Given the description of an element on the screen output the (x, y) to click on. 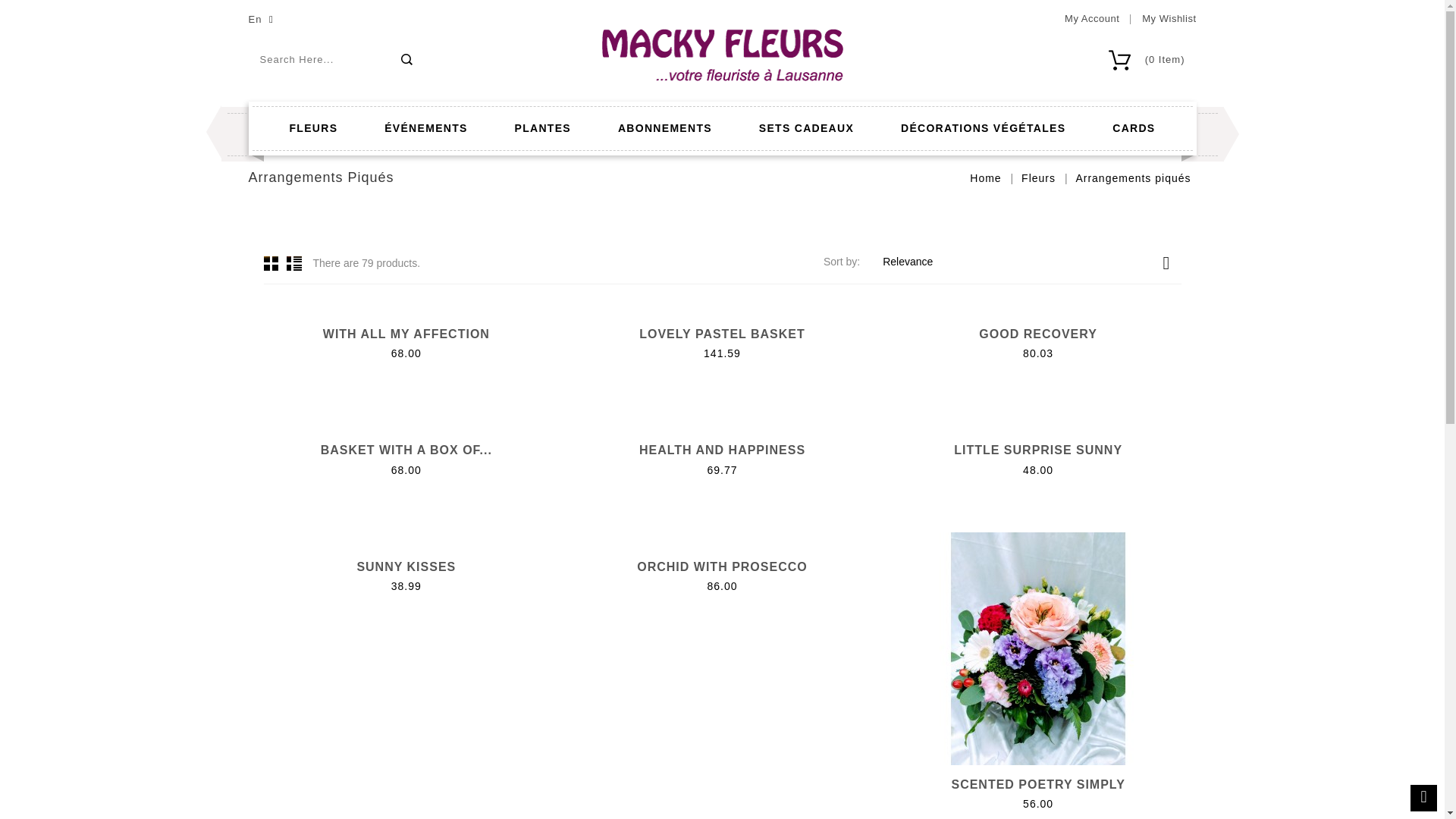
Basket with a box of milk chocolate (406, 449)
My Wishlist (1168, 18)
My Wishlist (1168, 18)
ABONNEMENTS (664, 128)
Lovely pastel basket (722, 333)
PLANTES (542, 128)
FLEURS (313, 128)
little surprise sunny (1037, 449)
List (293, 263)
Good Recovery (1037, 333)
Grid (271, 263)
Health and happiness (722, 449)
with all my affection (406, 333)
Sunny kisses (405, 566)
